Given the description of an element on the screen output the (x, y) to click on. 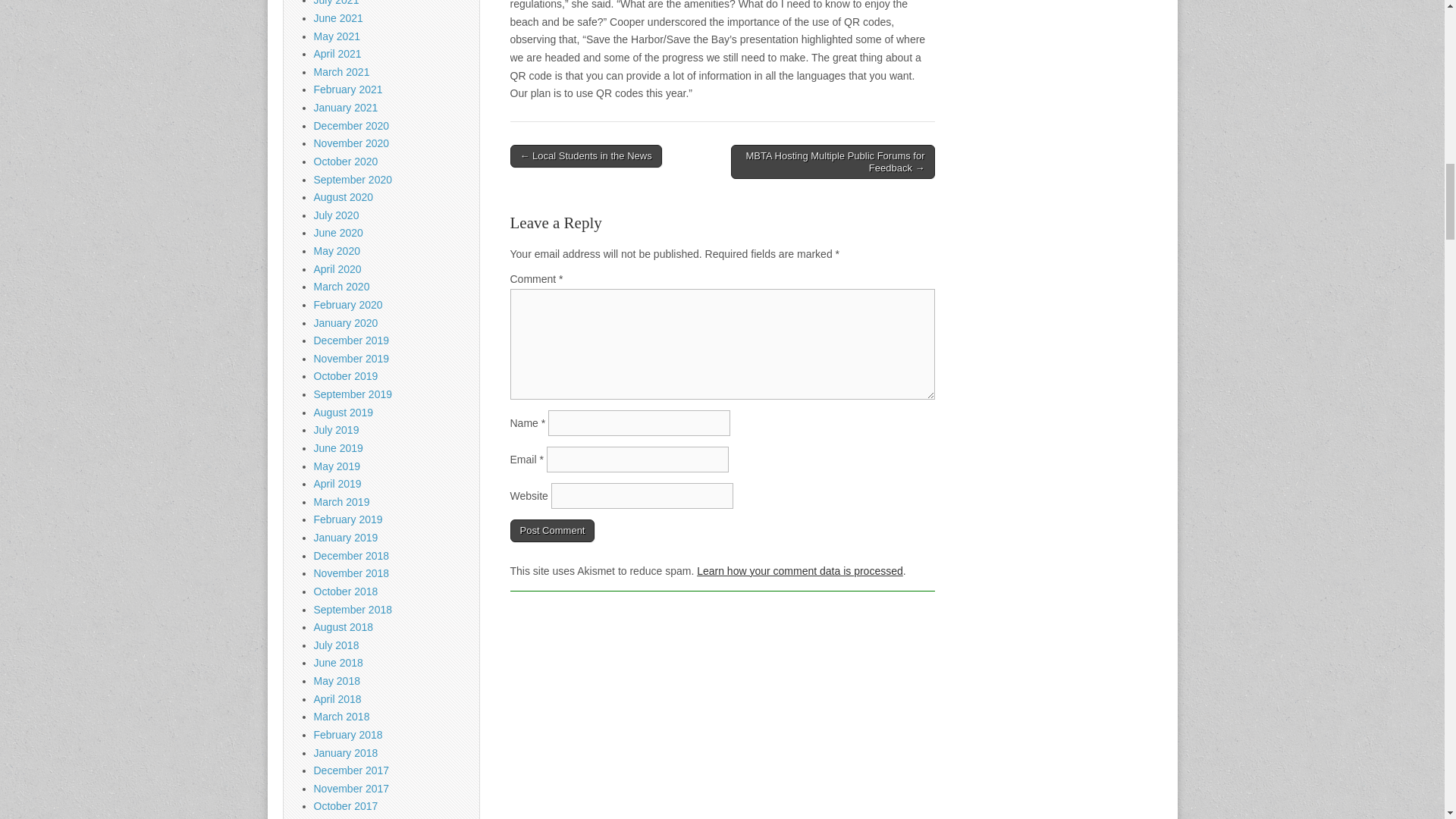
Post Comment (551, 530)
Learn how your comment data is processed (799, 571)
Post Comment (551, 530)
